Given the description of an element on the screen output the (x, y) to click on. 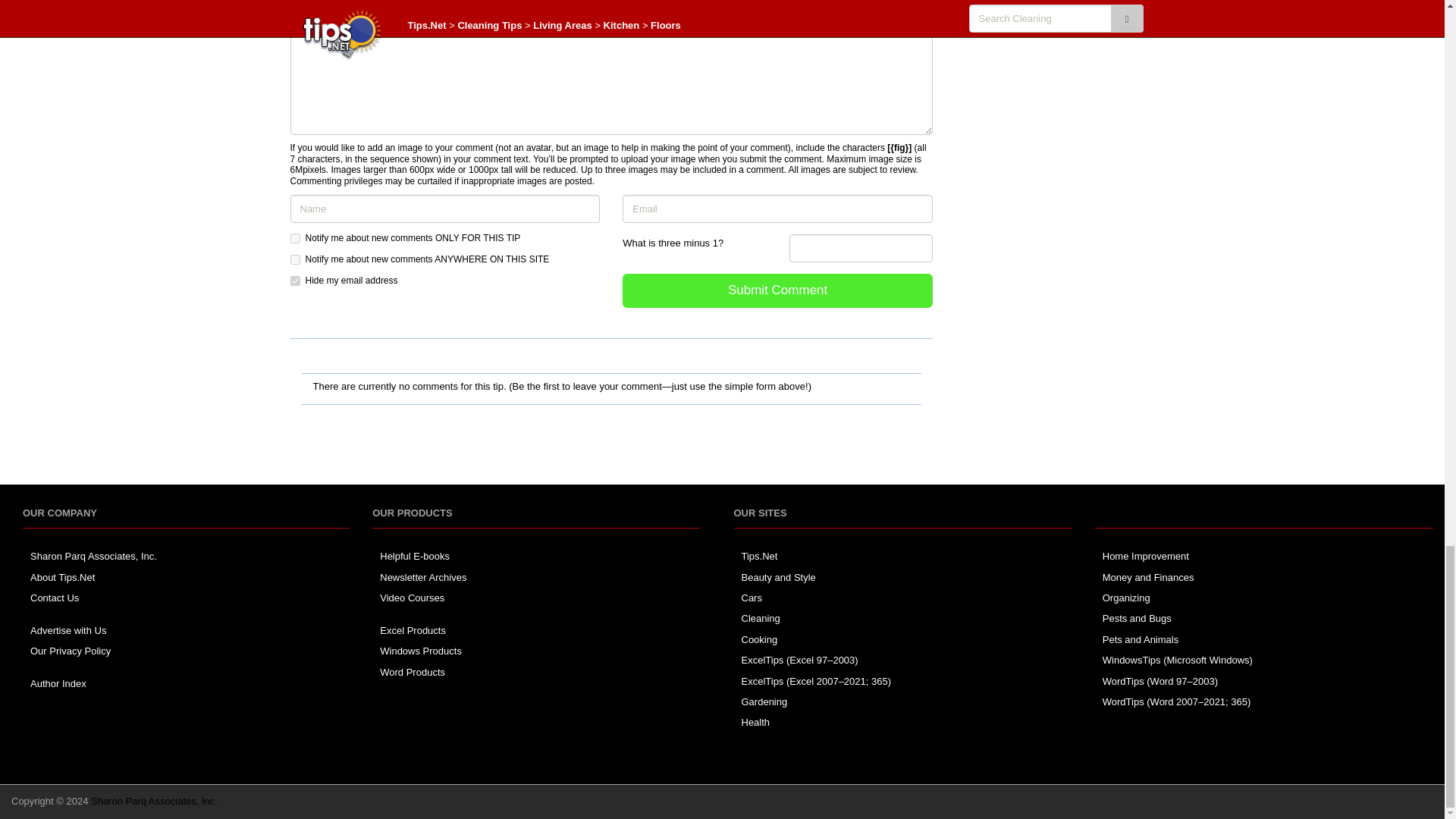
Advertise with Us (68, 630)
Excel Products (412, 630)
option3 (294, 280)
Newsletter Archives (422, 577)
About Tips.Net (62, 577)
Submit Comment (778, 290)
Our Privacy Policy (70, 650)
option2 (294, 259)
Video Courses (412, 597)
Sharon Parq Associates, Inc. (93, 555)
